Given the description of an element on the screen output the (x, y) to click on. 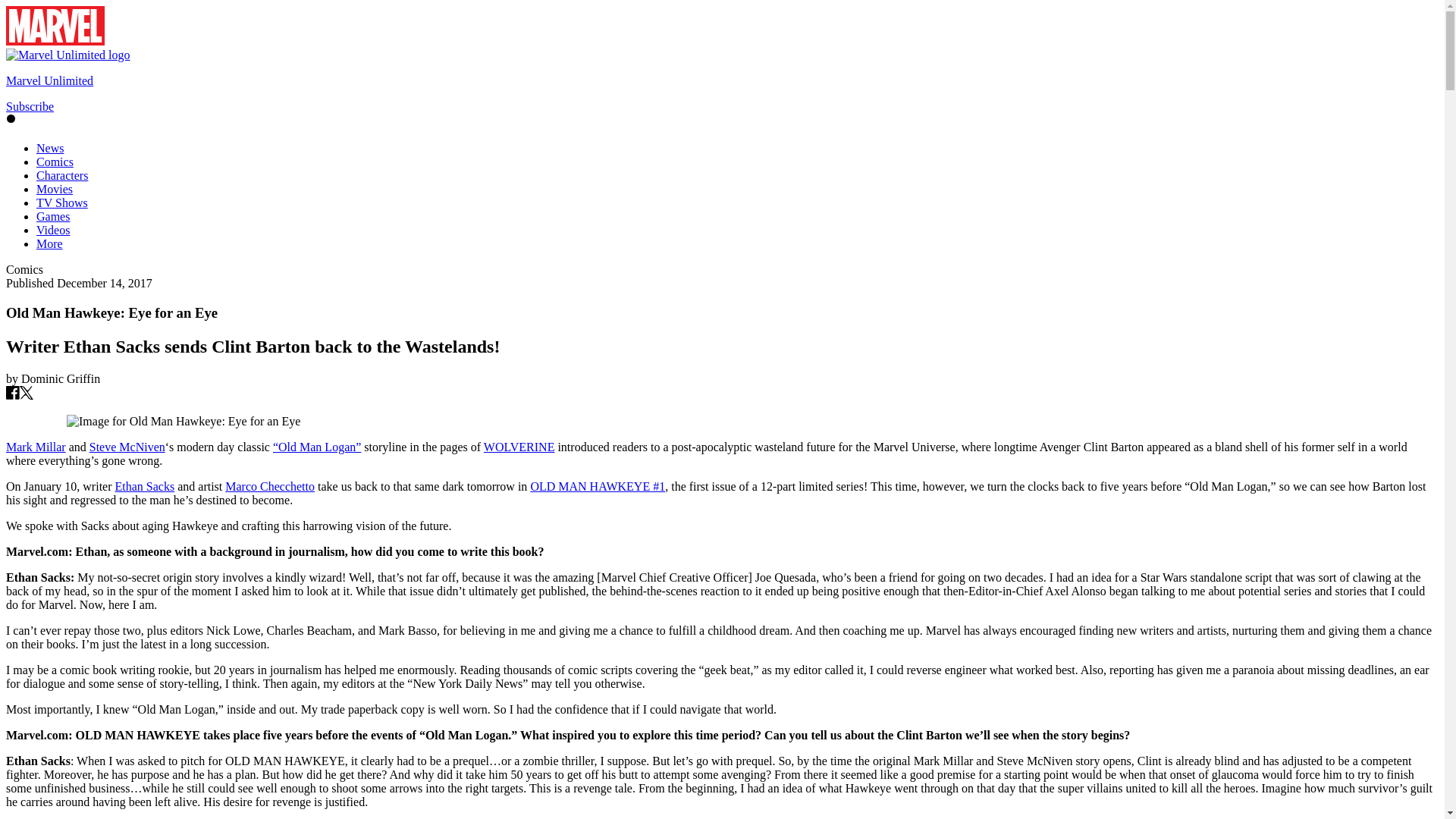
TV Shows (61, 202)
Comics (55, 161)
Ethan Sacks (144, 486)
News (50, 147)
More (49, 243)
Characters (61, 174)
Mark Millar (35, 446)
WOLVERINE (518, 446)
Videos (52, 229)
Marco Checchetto (269, 486)
